Given the description of an element on the screen output the (x, y) to click on. 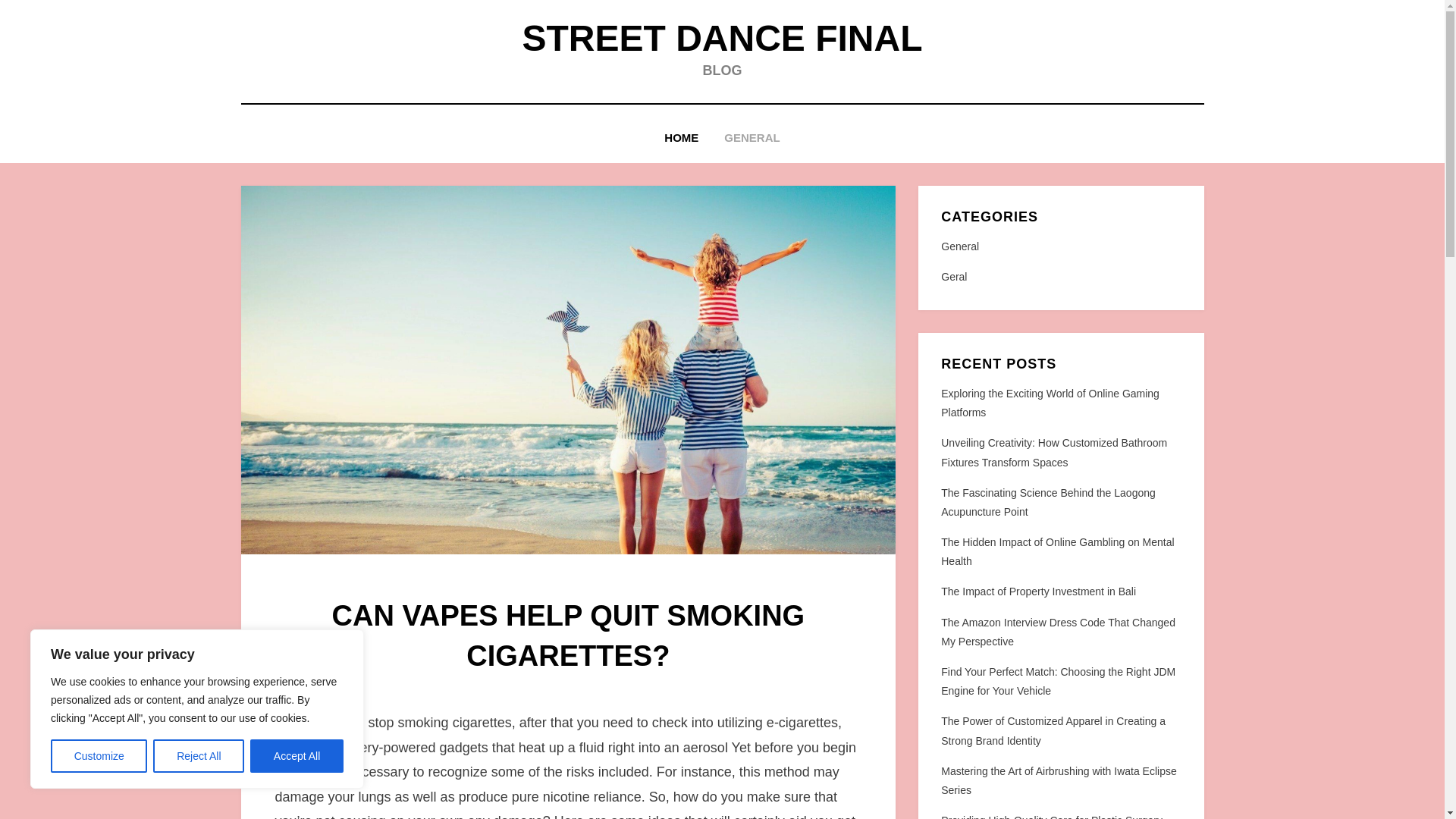
Street Dance Final (721, 38)
General (1060, 246)
Geral (1060, 276)
The Hidden Impact of Online Gambling on Mental Health (1056, 551)
Accept All (296, 756)
The Fascinating Science Behind the Laogong Acupuncture Point (1048, 501)
STREET DANCE FINAL (721, 38)
Exploring the Exciting World of Online Gaming Platforms (1049, 402)
Reject All (198, 756)
